Given the description of an element on the screen output the (x, y) to click on. 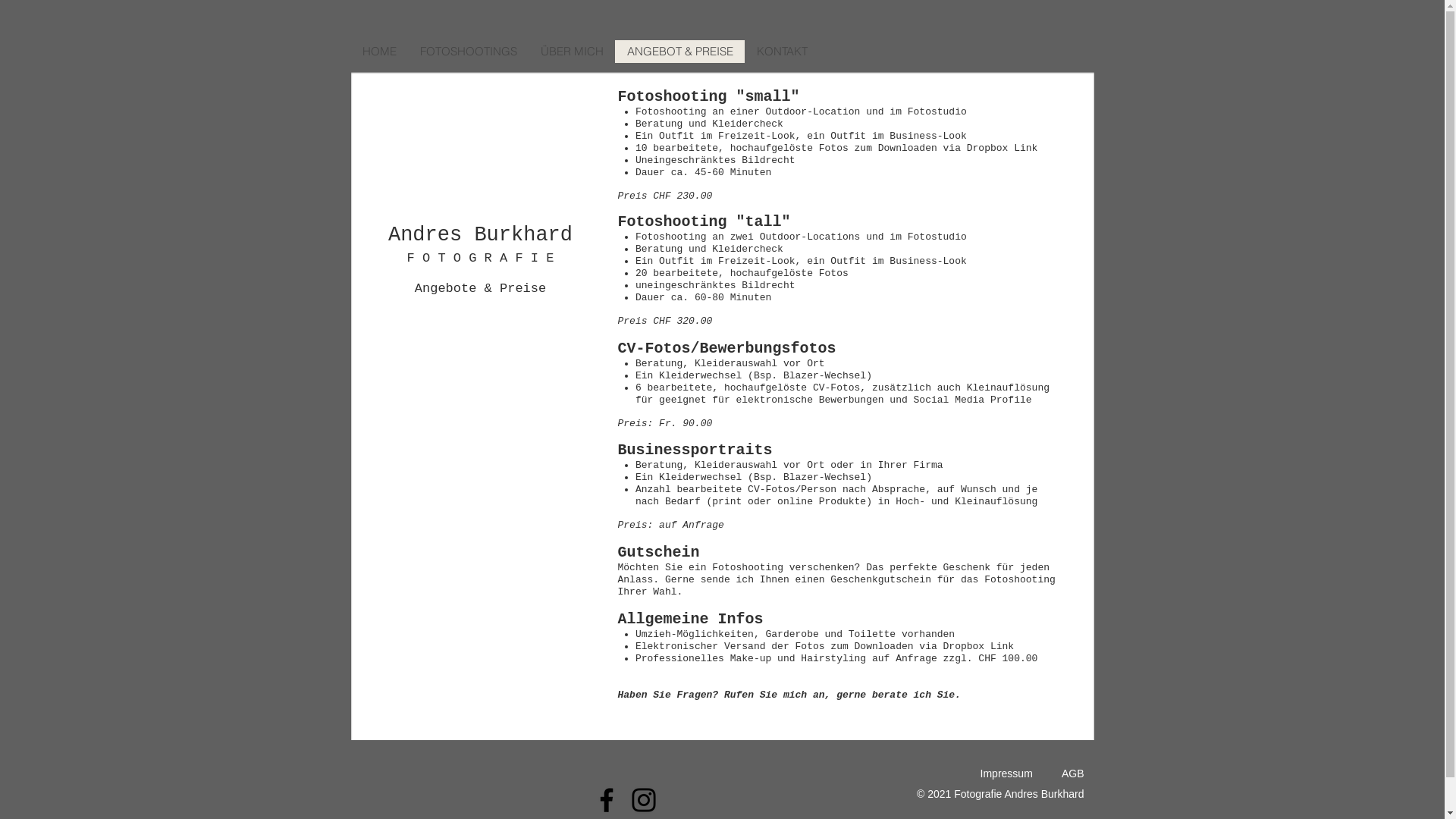
HOME Element type: text (378, 51)
KONTAKT Element type: text (781, 51)
Impressum Element type: text (1006, 773)
Andres Burkhard Element type: text (480, 234)
ANGEBOT & PREISE Element type: text (678, 51)
F O T O G R A F I E Element type: text (480, 258)
AGB Element type: text (1072, 773)
FOTOSHOOTINGS Element type: text (467, 51)
